Given the description of an element on the screen output the (x, y) to click on. 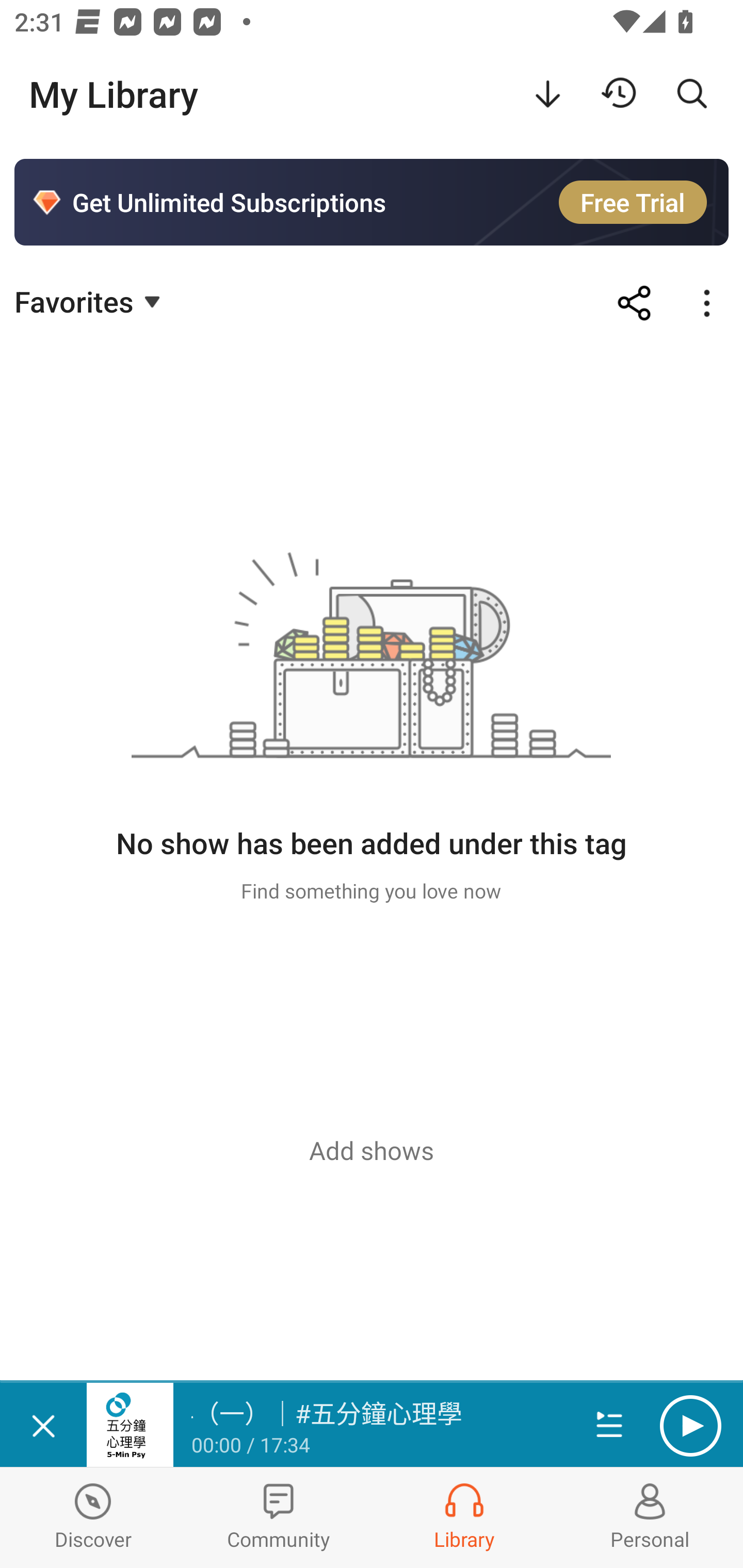
Get Unlimited Subscriptions Free Trial (371, 202)
Free Trial (632, 202)
Favorites (90, 300)
Add shows (371, 1150)
Play (690, 1425)
Discover (92, 1517)
Community (278, 1517)
Library (464, 1517)
Profiles and Settings Personal (650, 1517)
